Given the description of an element on the screen output the (x, y) to click on. 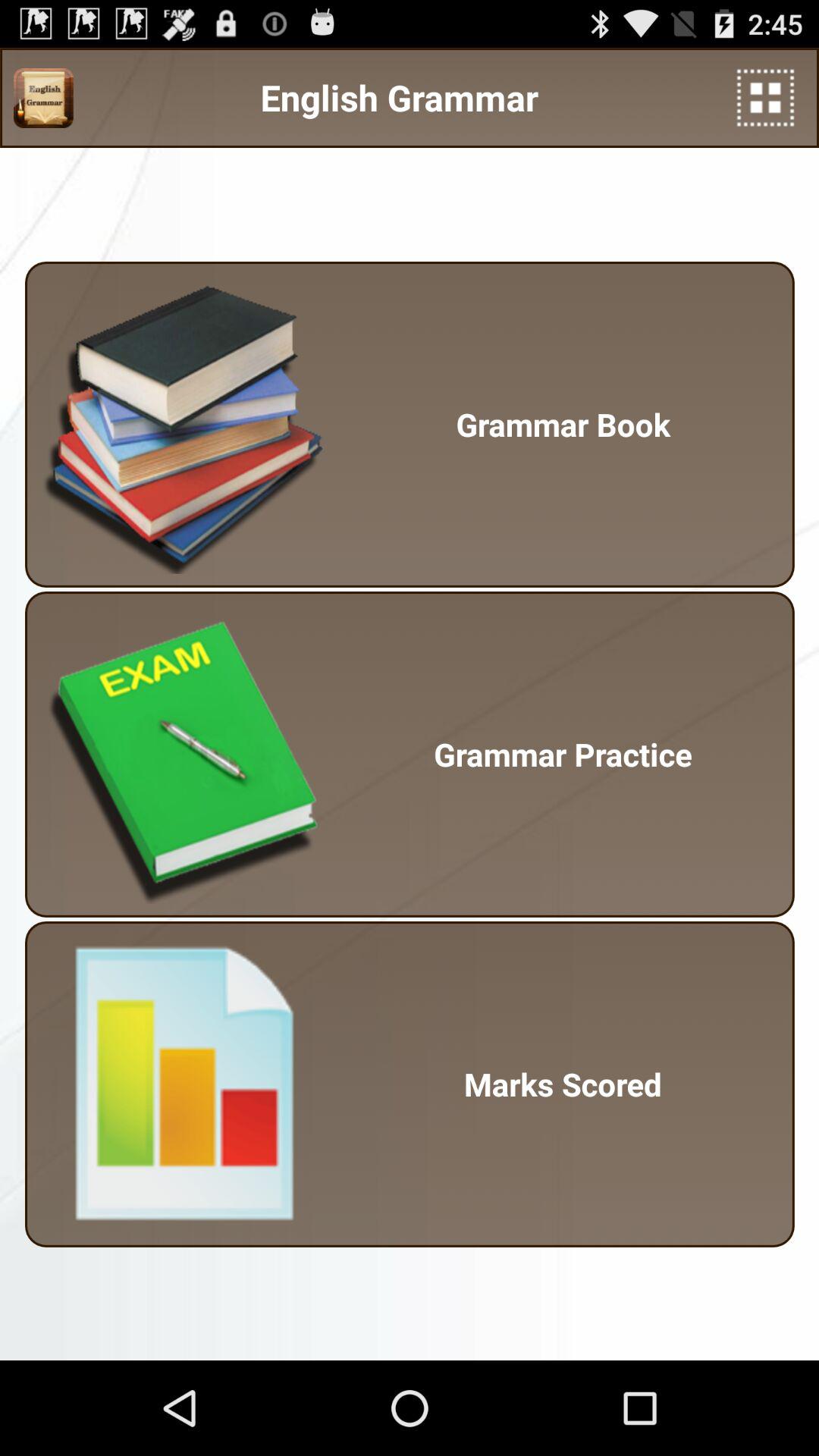
tap icon to the right of the english grammar app (765, 97)
